Given the description of an element on the screen output the (x, y) to click on. 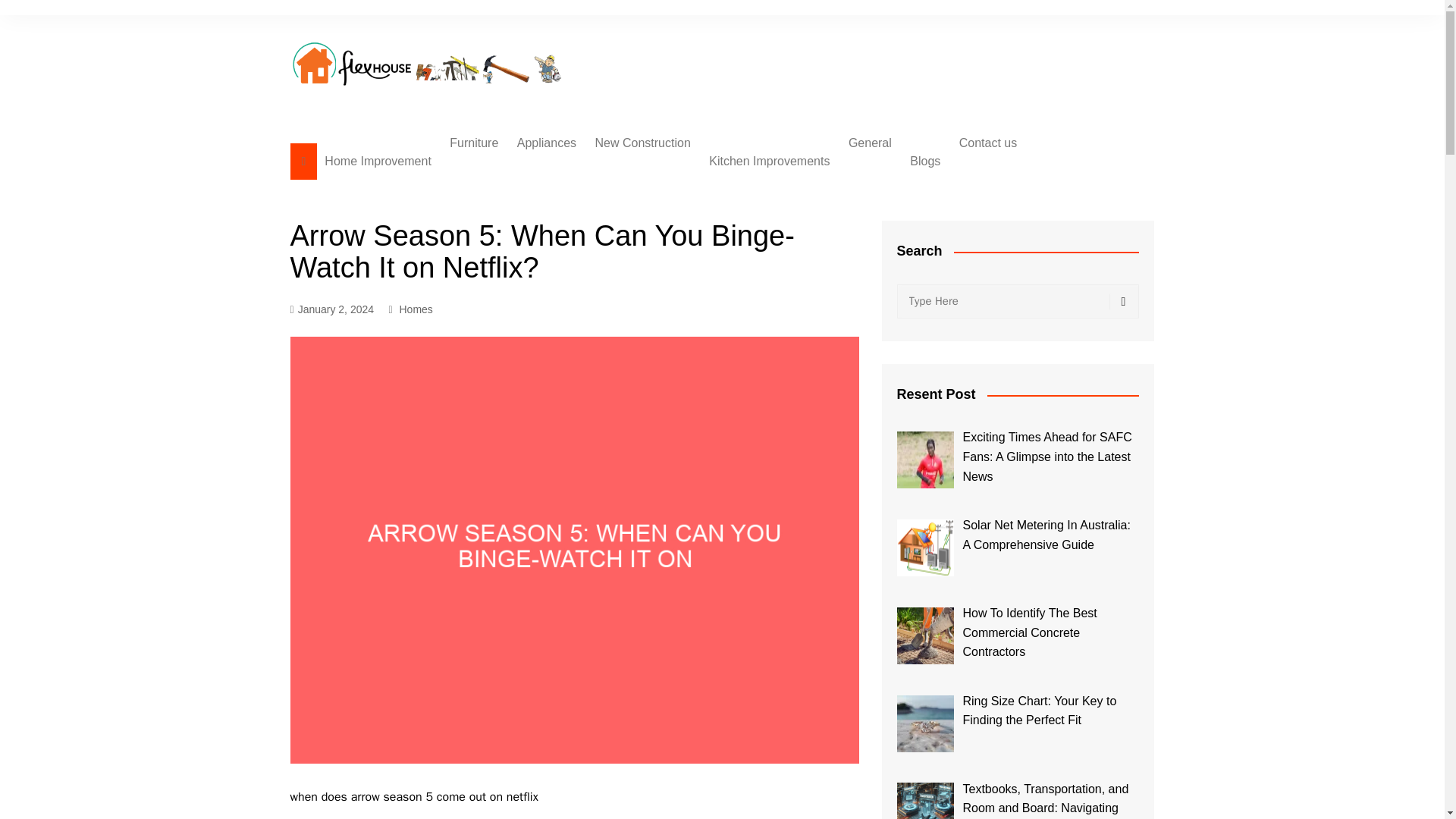
Home Inspections (671, 210)
textbooks, transportation and room and board are all... (924, 800)
Cleaning Tips and Tools (593, 273)
General (870, 143)
Interior Design and Decorating (525, 216)
Appliances (546, 143)
Moving (671, 348)
Landscaper (671, 298)
Garage (671, 273)
Plumbing (924, 235)
Write for US (1035, 210)
New Construction (643, 143)
Home Improvement (378, 161)
Homes (415, 309)
Landscaping Outdoor Decorating (671, 241)
